Given the description of an element on the screen output the (x, y) to click on. 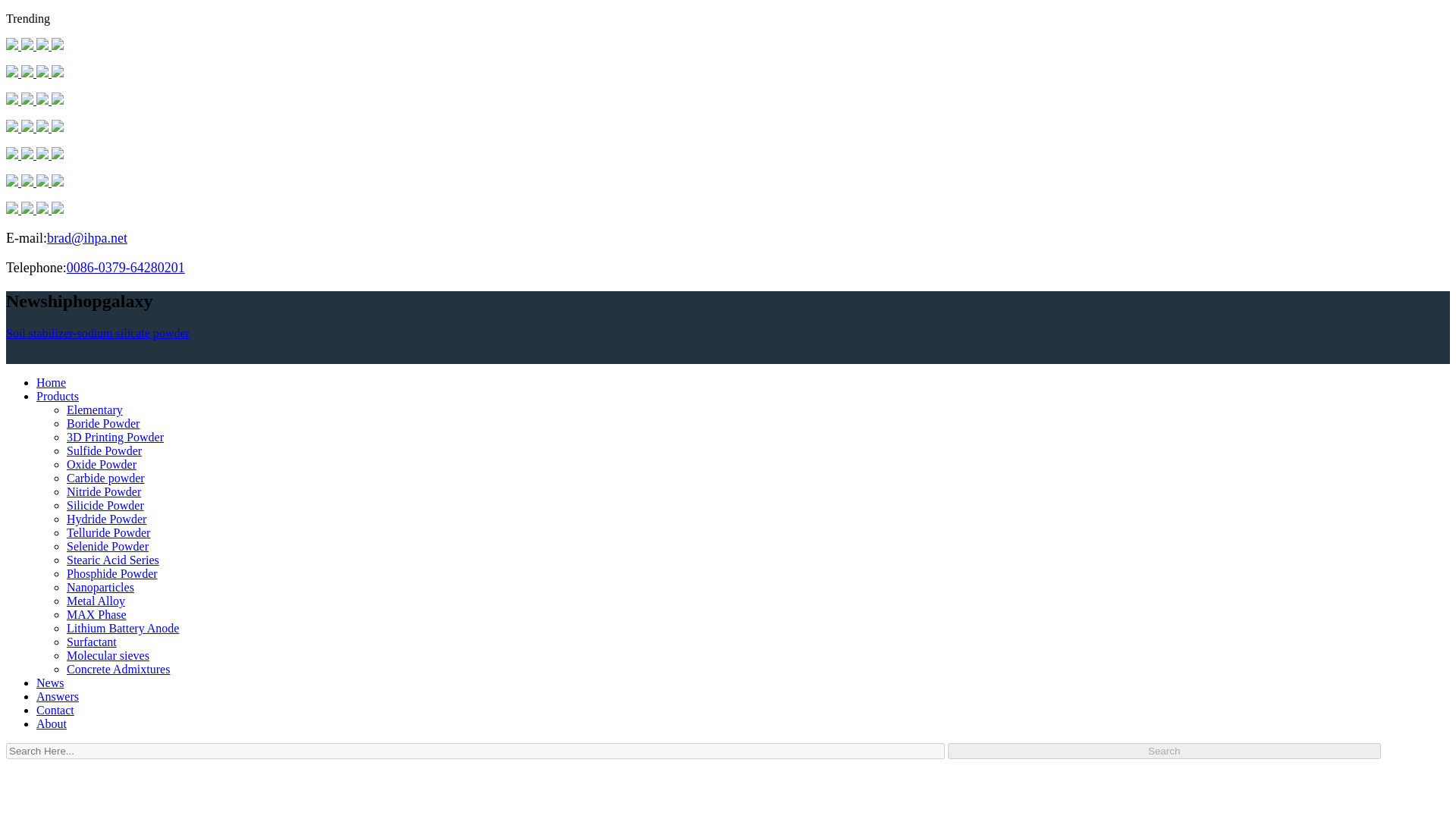
About (51, 723)
Carbide powder (105, 477)
Oxide Powder (101, 463)
Silicide Powder (105, 504)
3D Printing Powder (114, 436)
Soil stabilizer-sodium silicate powder (97, 332)
Molecular sieves (107, 655)
Metal Alloy (95, 600)
Selenide Powder (107, 545)
Nanoparticles (99, 586)
Phosphide Powder (111, 573)
Boride Powder (102, 422)
Products (57, 395)
Contact (55, 709)
Elementary (94, 409)
